Given the description of an element on the screen output the (x, y) to click on. 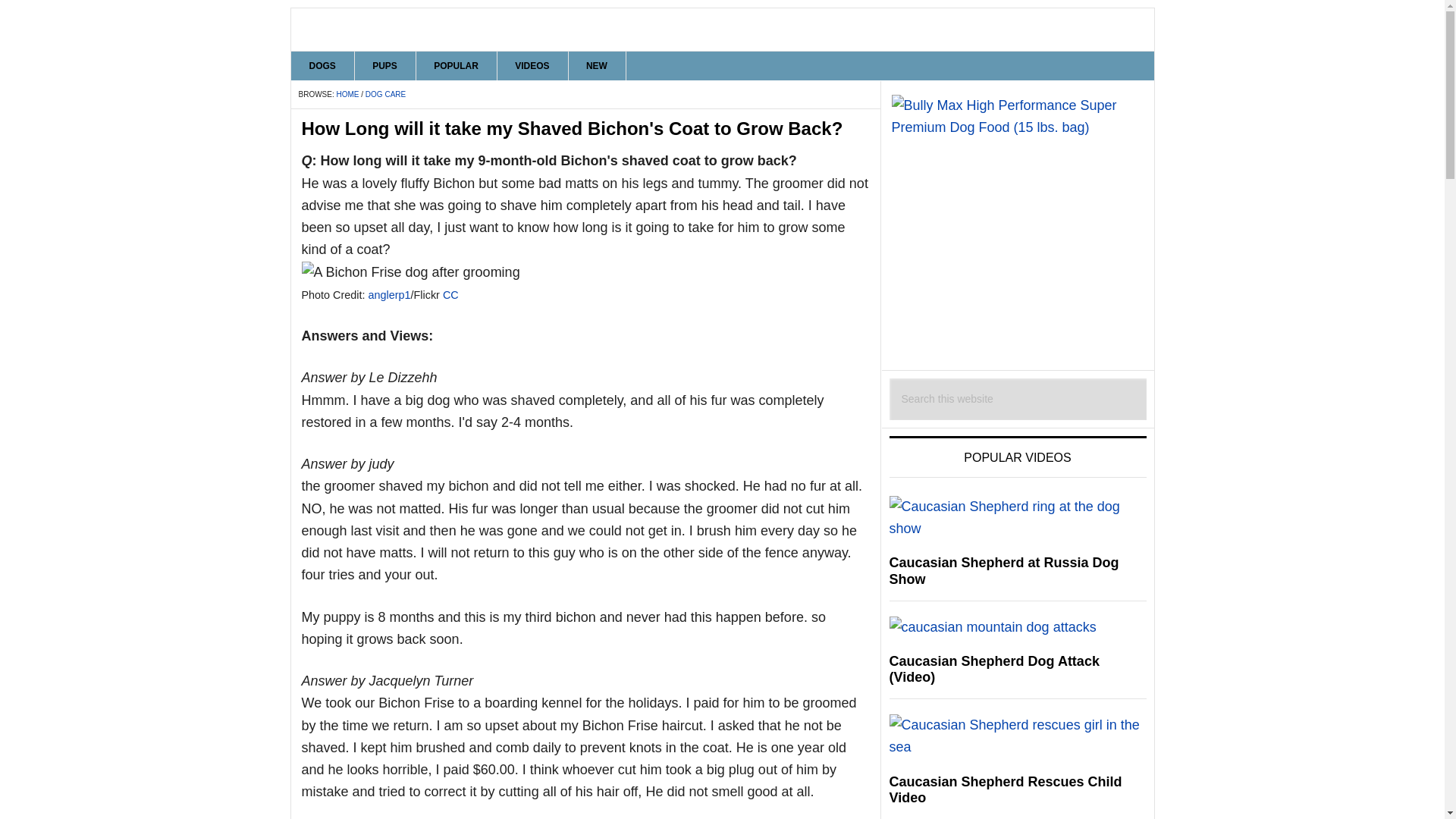
POPULAR (455, 65)
HOME (347, 94)
DOG CARE (385, 94)
Willy Bichon by anglerp1 (410, 271)
PUPS (384, 65)
RUSSIAN DOG (722, 29)
anglerp1 (389, 295)
CC (450, 295)
BUY IT ON AMAZON ! (1017, 221)
DOGS (323, 65)
VIDEOS (531, 65)
NEW (596, 65)
